Given the description of an element on the screen output the (x, y) to click on. 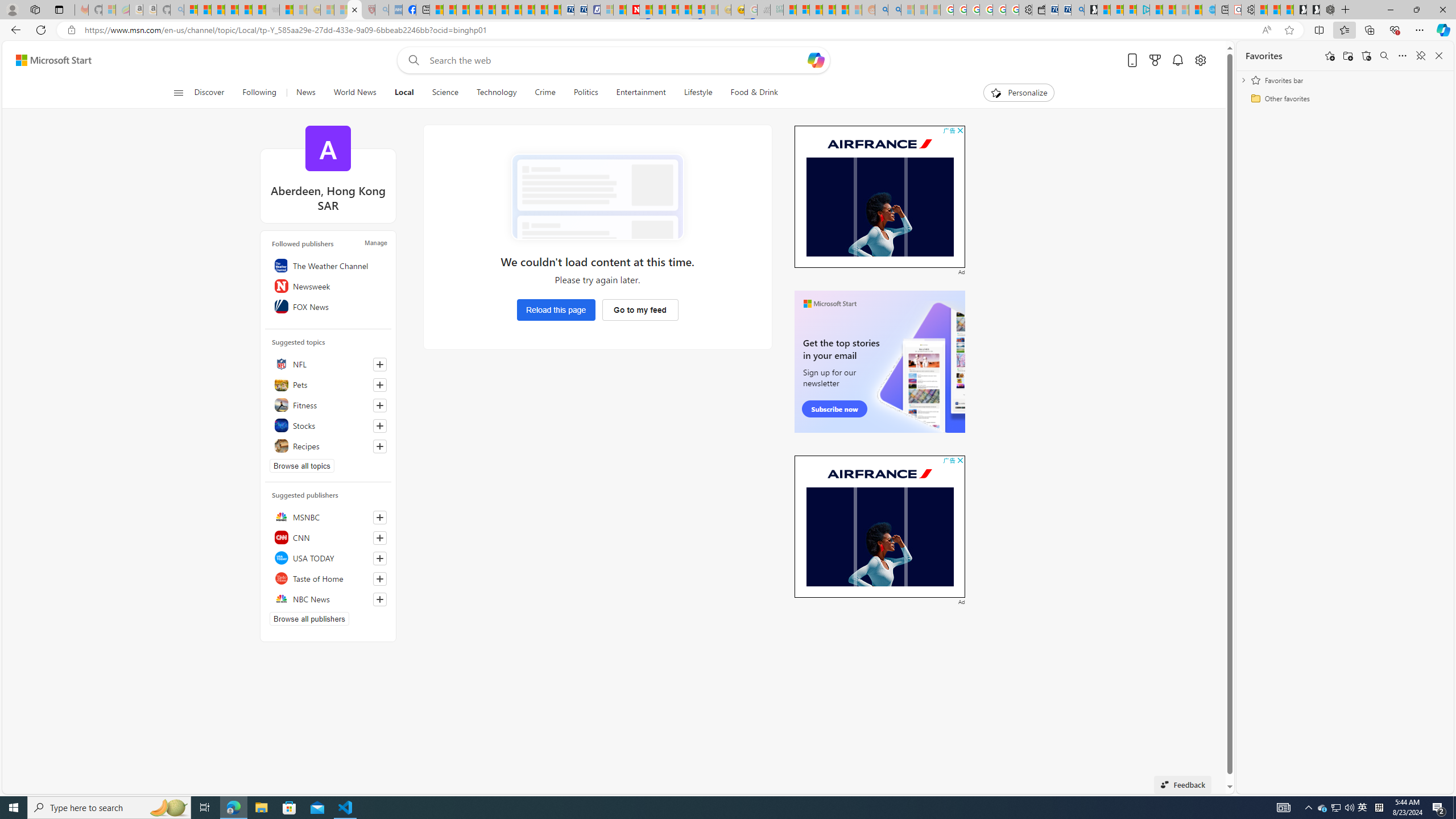
14 Common Myths Debunked By Scientific Facts (659, 9)
Student Loan Update: Forgiveness Program Ends This Month (842, 9)
Search favorites (1383, 55)
Utah sues federal government - Search (894, 9)
